Given the description of an element on the screen output the (x, y) to click on. 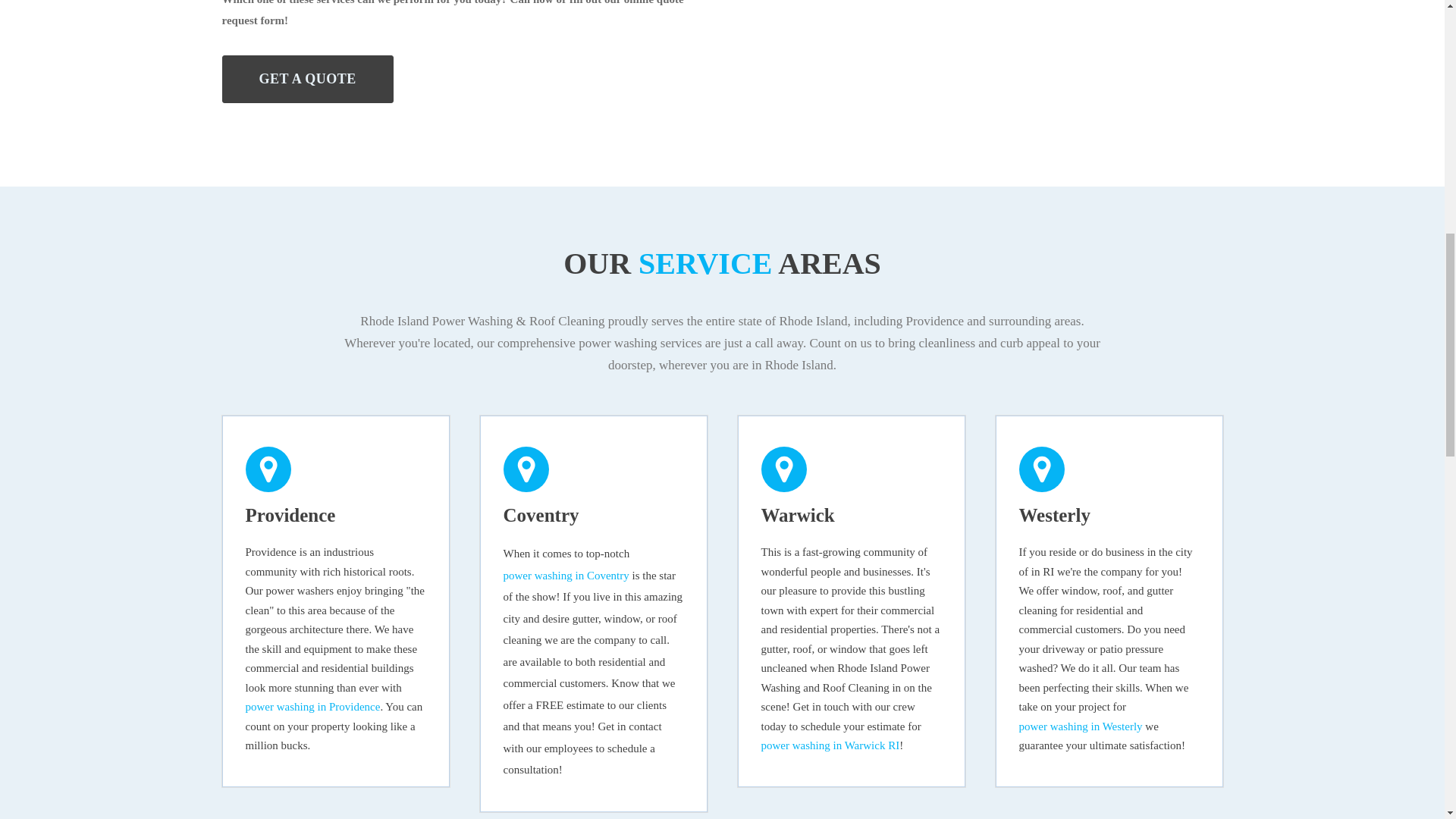
power washing in Westerly (1080, 727)
power washing in Warwick RI (830, 745)
power washing in Coventry (565, 576)
GET A QUOTE (307, 78)
power washing in Providence (313, 707)
